Given the description of an element on the screen output the (x, y) to click on. 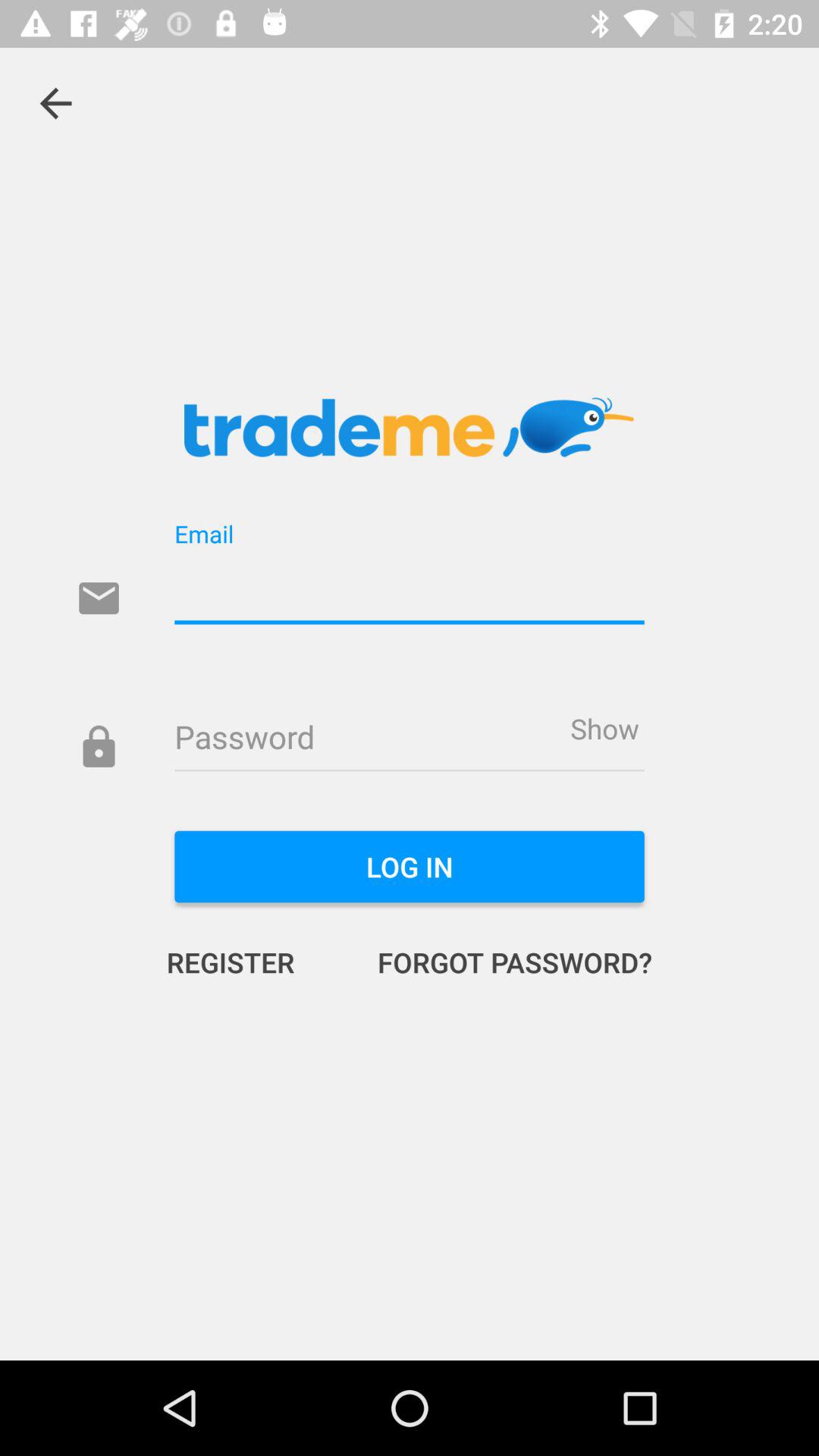
click icon to the right of register icon (498, 962)
